Given the description of an element on the screen output the (x, y) to click on. 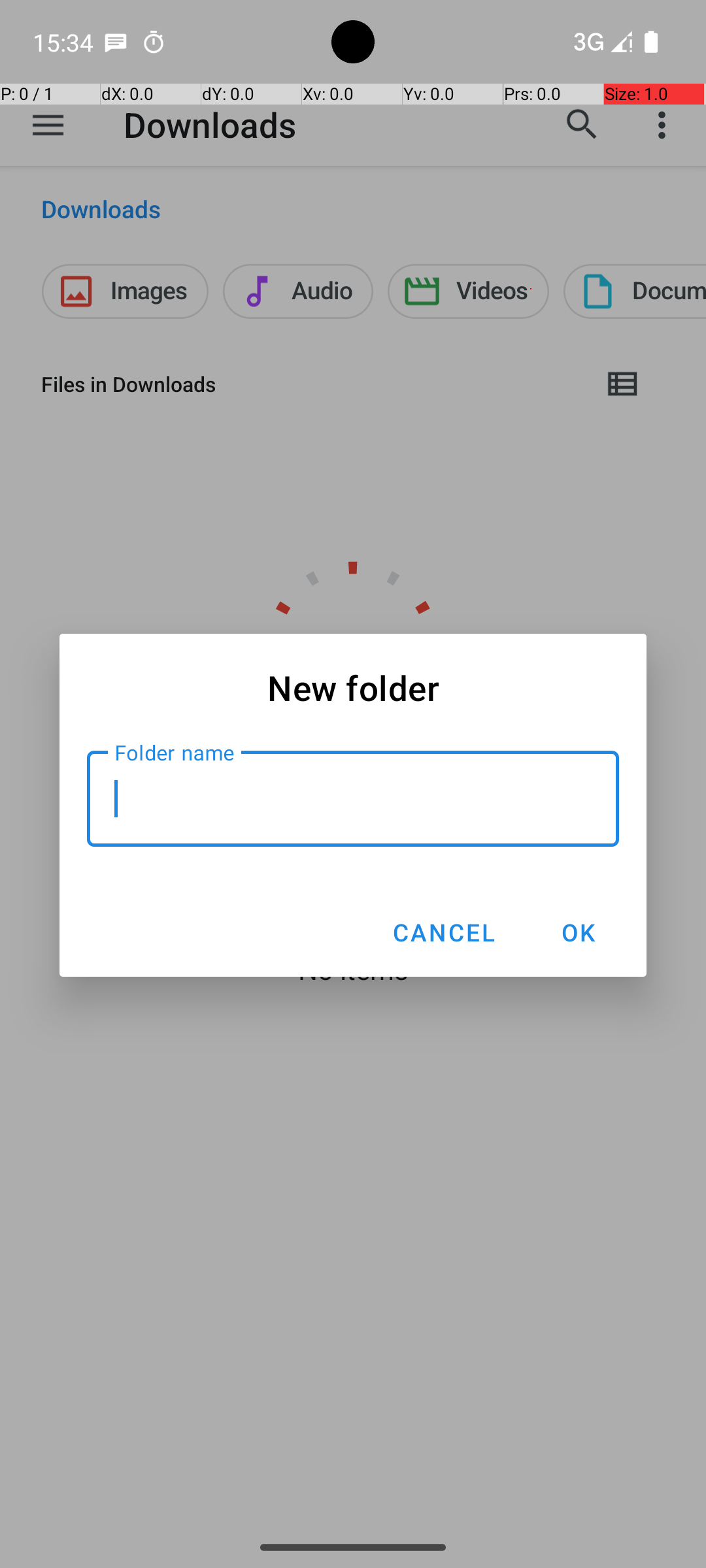
New folder Element type: android.widget.TextView (352, 687)
Folder name Element type: android.widget.EditText (352, 798)
